Given the description of an element on the screen output the (x, y) to click on. 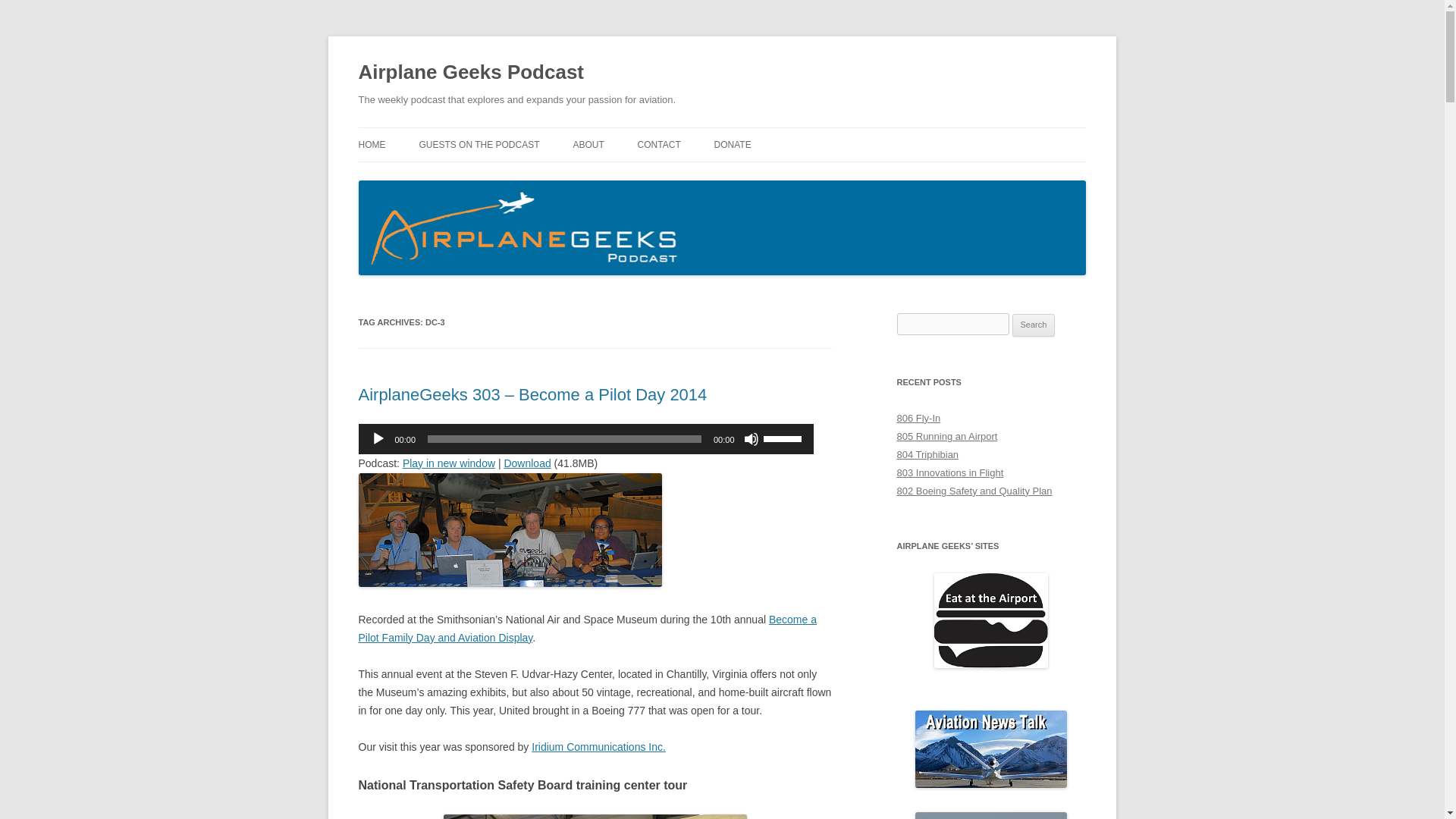
Airplane Geeks Podcast (470, 72)
Play in new window (449, 463)
Play (377, 438)
ABOUT (588, 144)
CONTACT (659, 144)
Mute (750, 438)
DONATE (732, 144)
GUESTS ON THE PODCAST (478, 144)
Download (526, 463)
Download (526, 463)
Play in new window (449, 463)
How to contact the Airplane Geeks (659, 144)
